Given the description of an element on the screen output the (x, y) to click on. 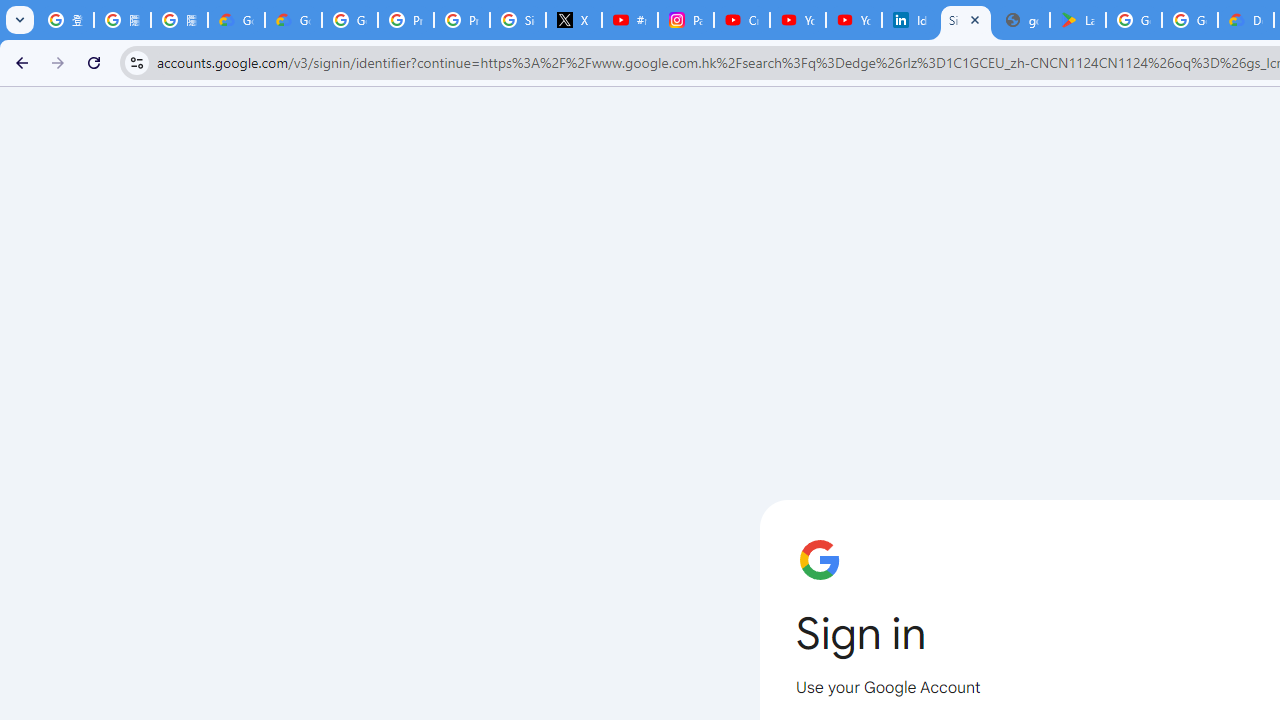
#nbabasketballhighlights - YouTube (629, 20)
Privacy Help Center - Policies Help (461, 20)
Last Shelter: Survival - Apps on Google Play (1077, 20)
Sign in - Google Accounts (518, 20)
Google Workspace - Specific Terms (1190, 20)
